Given the description of an element on the screen output the (x, y) to click on. 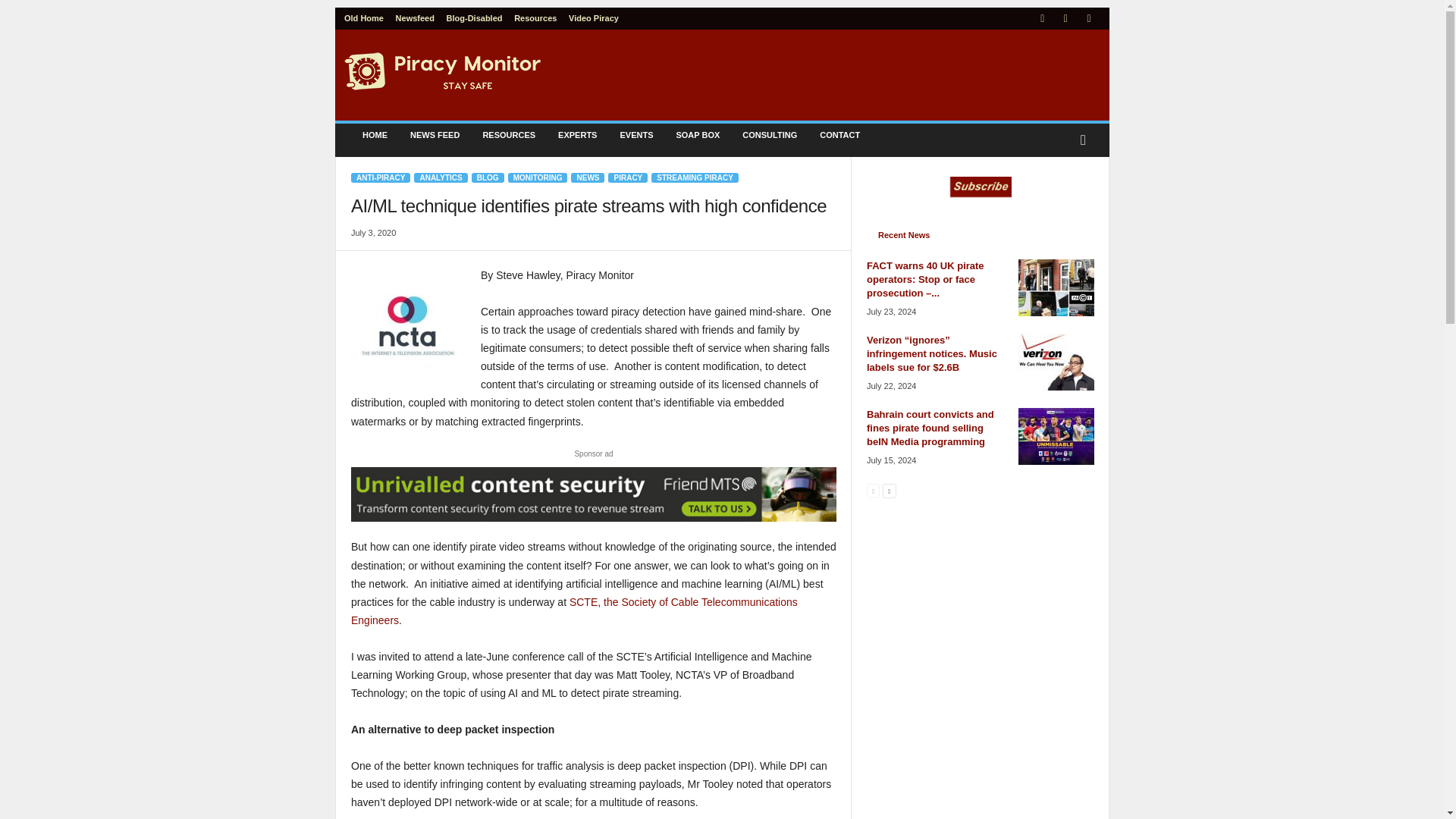
NEWS FEED (434, 134)
Piracy Monitor (442, 70)
SOAP BOX (696, 134)
CONSULTING (769, 134)
Blog-Disabled (474, 17)
RESOURCES (508, 134)
EVENTS (635, 134)
Video Piracy (593, 17)
CONTACT (839, 134)
EXPERTS (577, 134)
Piracy Monitor (442, 70)
Resources (534, 17)
Newsfeed (414, 17)
Old Home (363, 17)
HOME (374, 134)
